Given the description of an element on the screen output the (x, y) to click on. 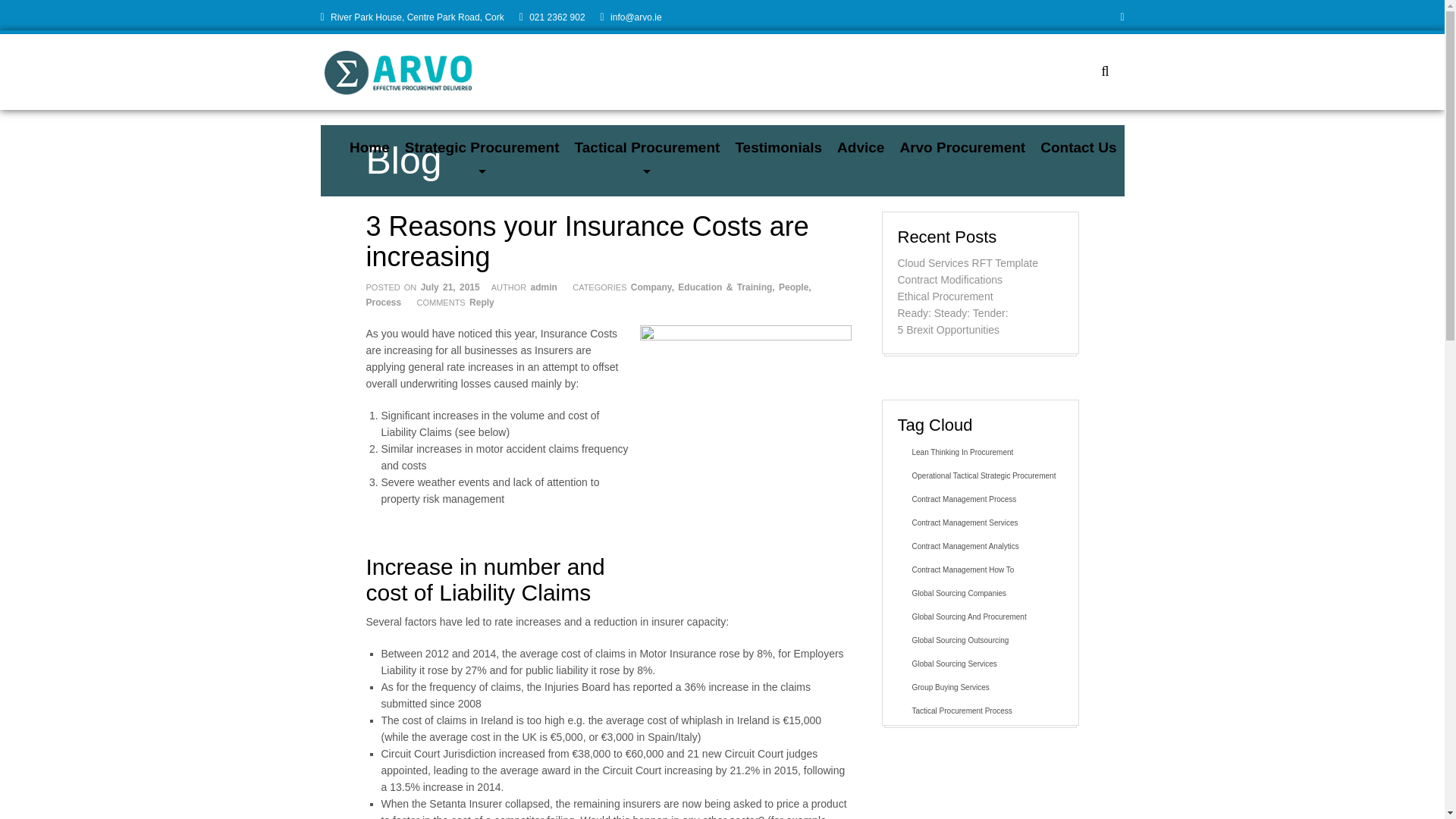
admin (544, 286)
Strategic Procurement (482, 147)
Company (650, 286)
Testimonials (777, 147)
Process (383, 302)
Contact Us (1078, 147)
Reply (481, 302)
Tactical Procurement (647, 147)
Cloud Services RFT Template (968, 263)
10:16 am (450, 286)
